Given the description of an element on the screen output the (x, y) to click on. 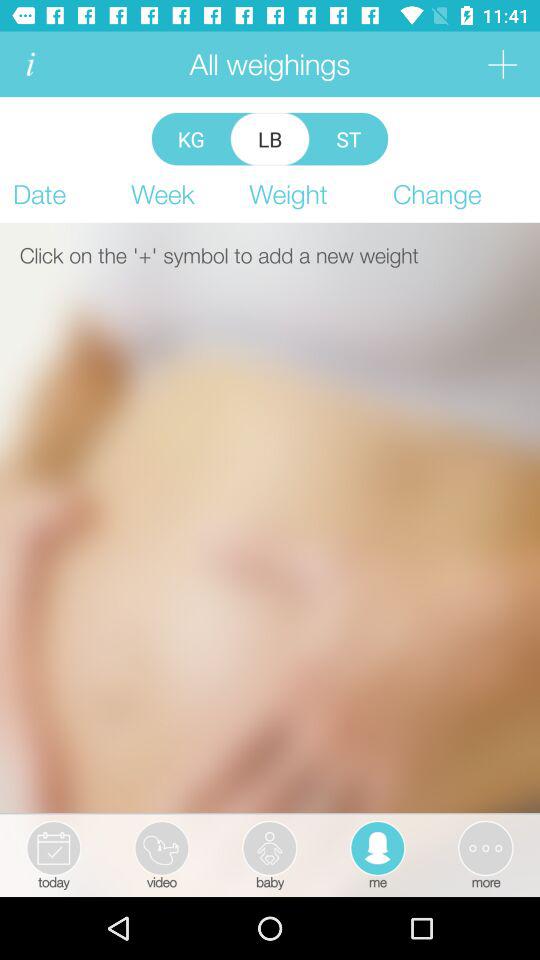
turn on item below the all weighings icon (190, 138)
